Given the description of an element on the screen output the (x, y) to click on. 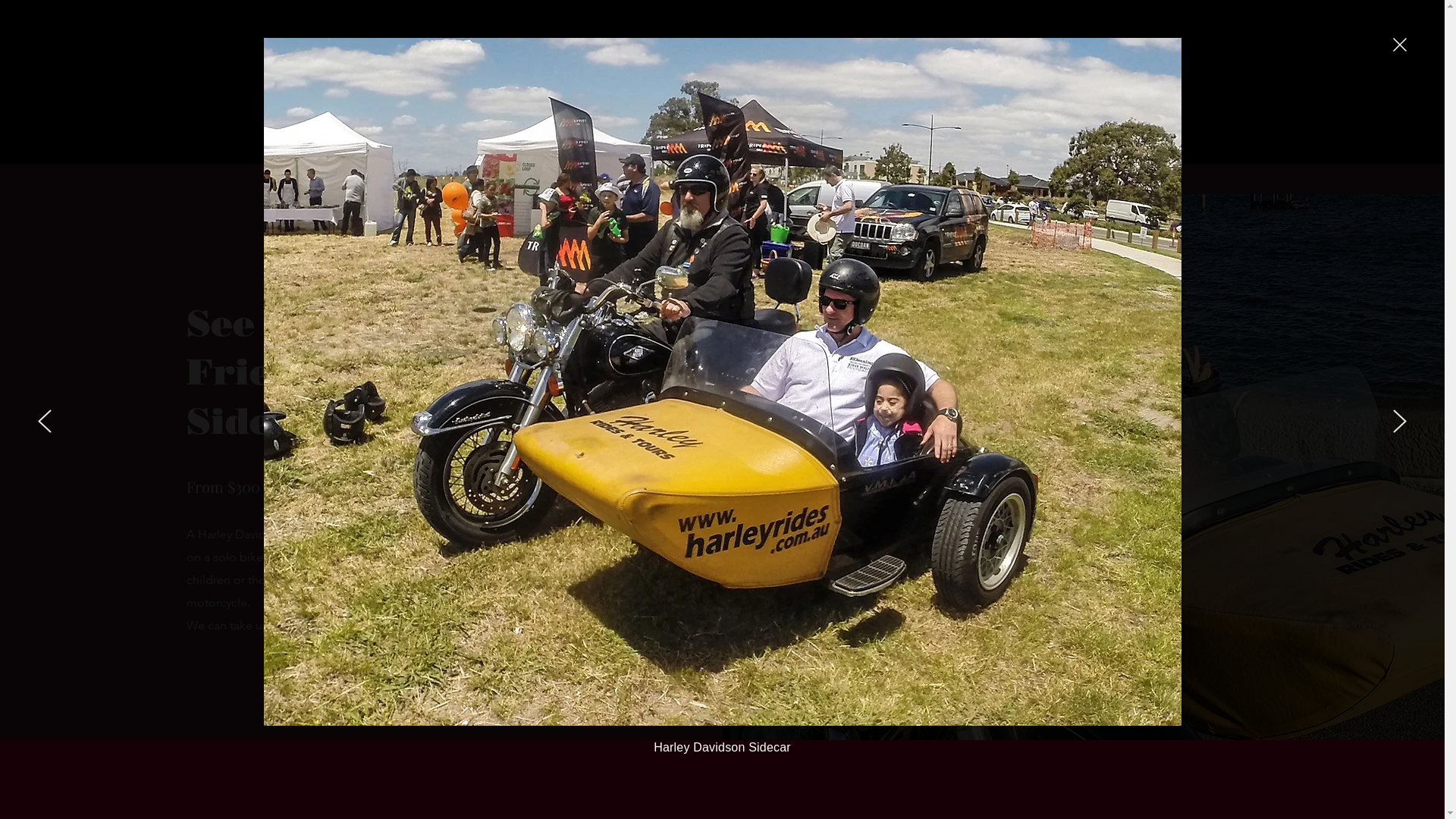
Facebook Like Element type: hover (752, 130)
Home Element type: text (379, 178)
Wineries Tour Element type: text (769, 178)
Group Rides Element type: text (846, 178)
Prices Book Purchase Online! Element type: text (953, 108)
Twitter Tweet Element type: hover (823, 130)
Great Ocean Road Tour Element type: text (544, 178)
jdkarmch@mac.com Element type: text (996, 51)
Inner Melbourne Tour Element type: text (668, 178)
+61 0419 359 628 Element type: text (920, 74)
Book Online! Element type: text (440, 178)
Experience Melbourne Differently Element type: text (588, 107)
Book Online! Element type: text (360, 671)
